Given the description of an element on the screen output the (x, y) to click on. 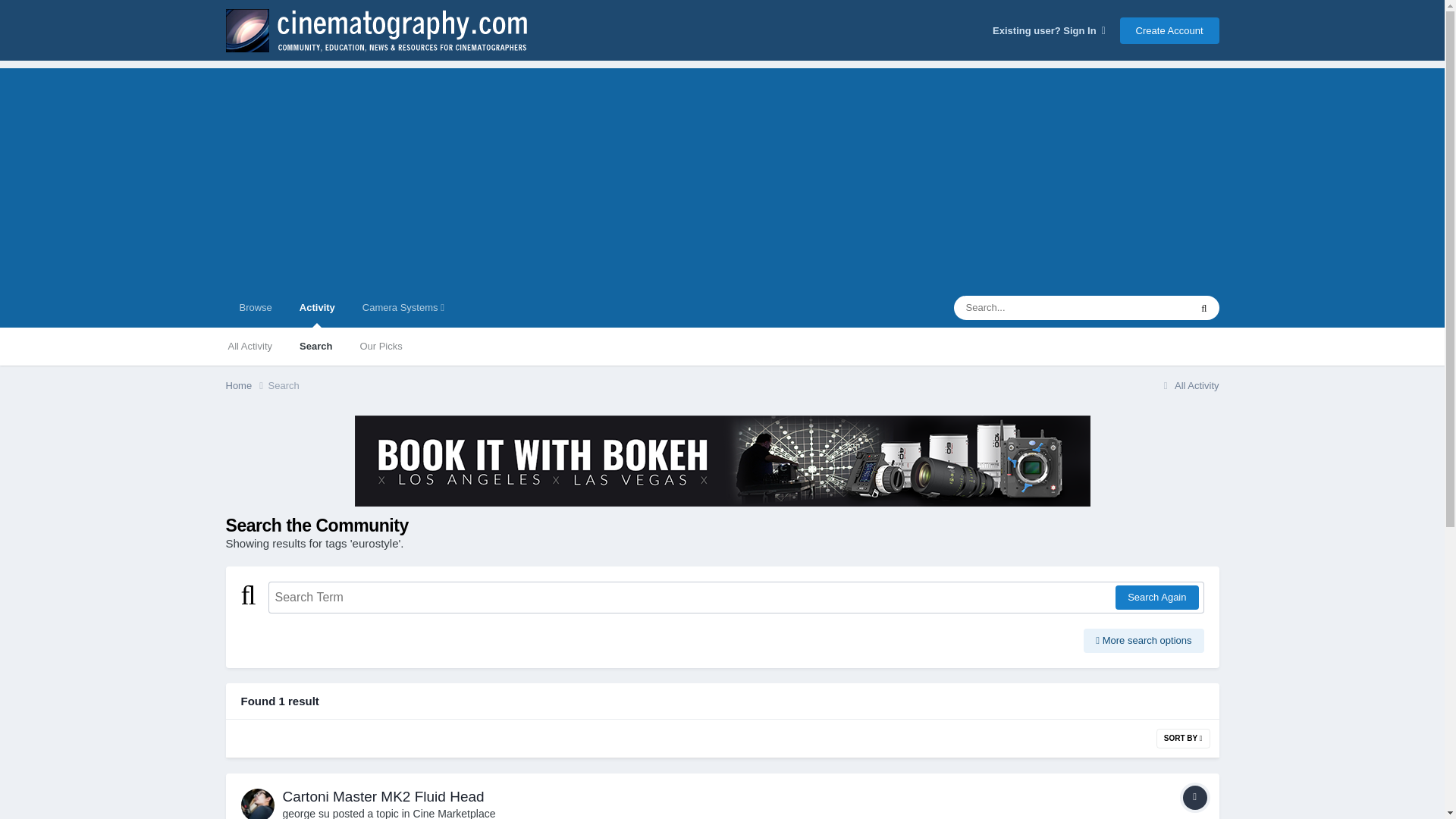
Go to george su's profile (305, 813)
Go to george su's profile (258, 803)
Create Account (1169, 29)
Browse (255, 307)
Our Picks (380, 346)
Camera Systems (403, 307)
Activity (317, 307)
All Activity (249, 346)
Existing user? Sign In   (1048, 30)
